Given the description of an element on the screen output the (x, y) to click on. 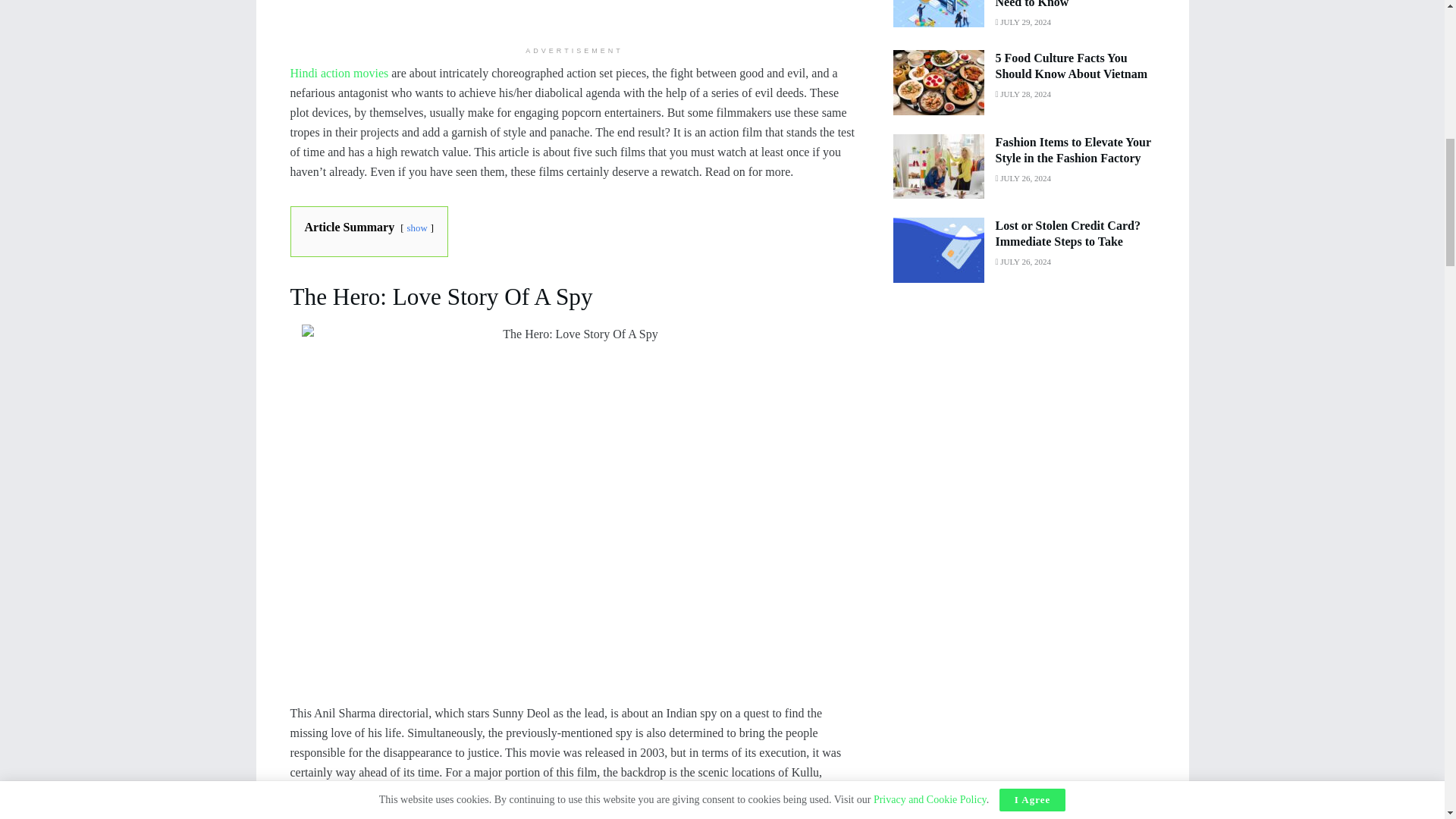
Advertisement (574, 17)
